Given the description of an element on the screen output the (x, y) to click on. 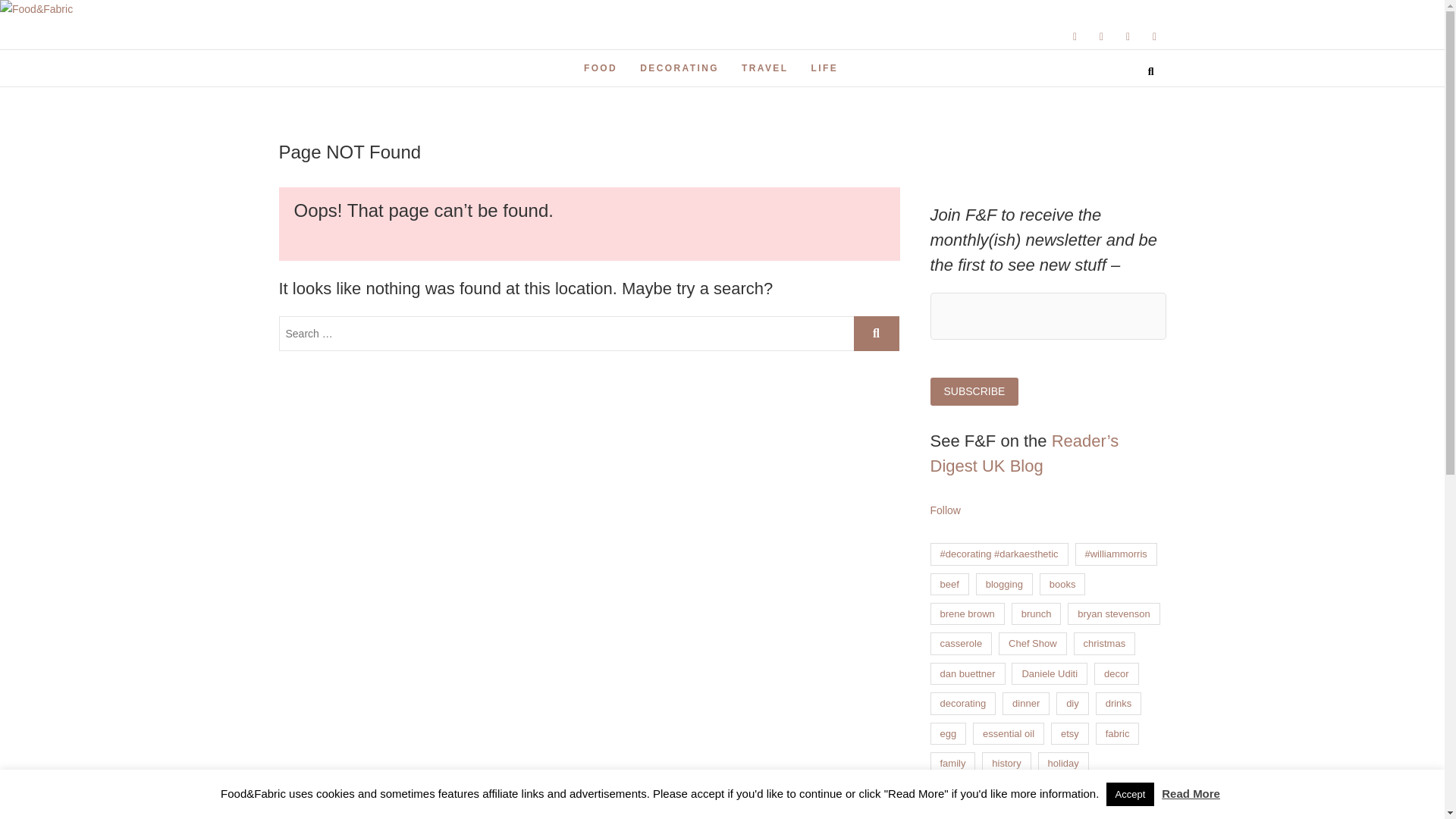
fabric (1118, 732)
Follow (944, 510)
casserole (960, 643)
brunch (1036, 613)
DECORATING (679, 67)
christmas (1104, 643)
Daniele Uditi (1049, 673)
Subscribe (973, 391)
dan buettner (967, 673)
brene brown (967, 613)
egg (948, 732)
diy (1073, 703)
drinks (1118, 703)
blogging (1003, 584)
etsy (1070, 732)
